Given the description of an element on the screen output the (x, y) to click on. 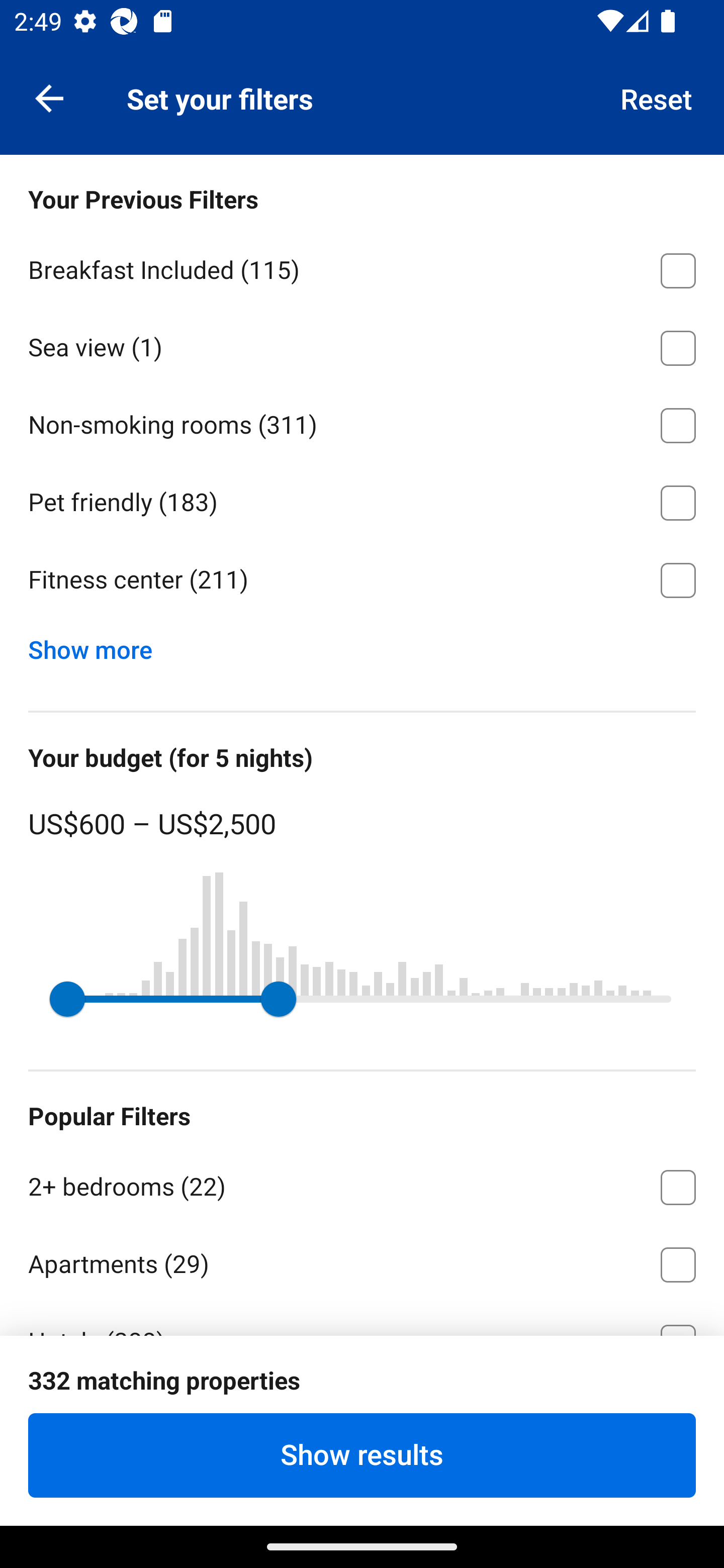
Navigate up (49, 97)
Reset (656, 97)
Breakfast Included ⁦(115) (361, 266)
Sea view ⁦(1) (361, 344)
Non-smoking rooms ⁦(311) (361, 422)
Pet friendly ⁦(183) (361, 498)
Fitness center ⁦(211) (361, 579)
Show more (97, 645)
600.0 Range start,US$600 2500.0 Range end,US$2,500 (361, 998)
2+ bedrooms ⁦(22) (361, 1183)
Apartments ⁦(29) (361, 1261)
Show results (361, 1454)
